Given the description of an element on the screen output the (x, y) to click on. 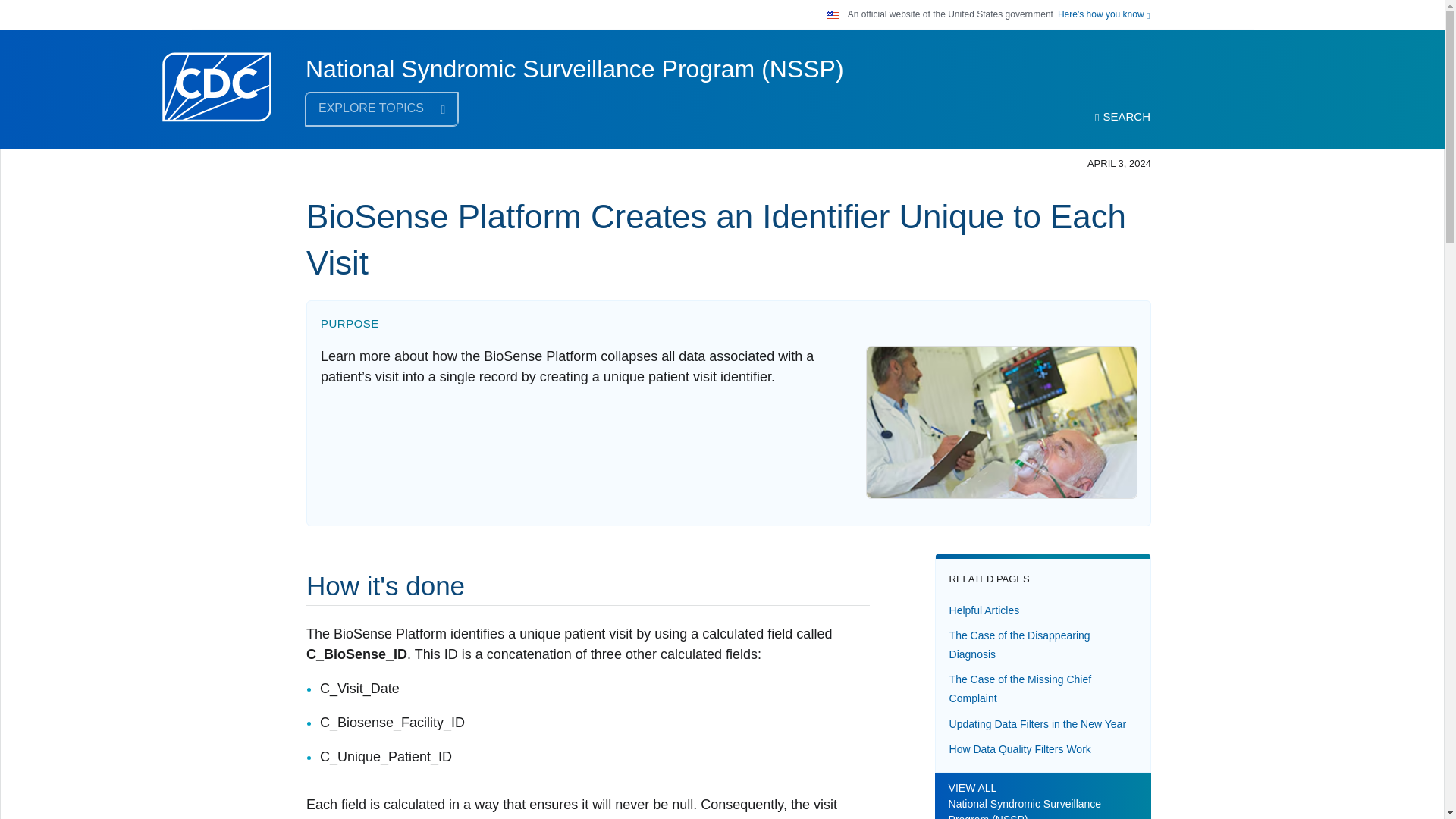
SEARCH (1122, 117)
EXPLORE TOPICS (381, 109)
Here's how you know (1104, 14)
